Given the description of an element on the screen output the (x, y) to click on. 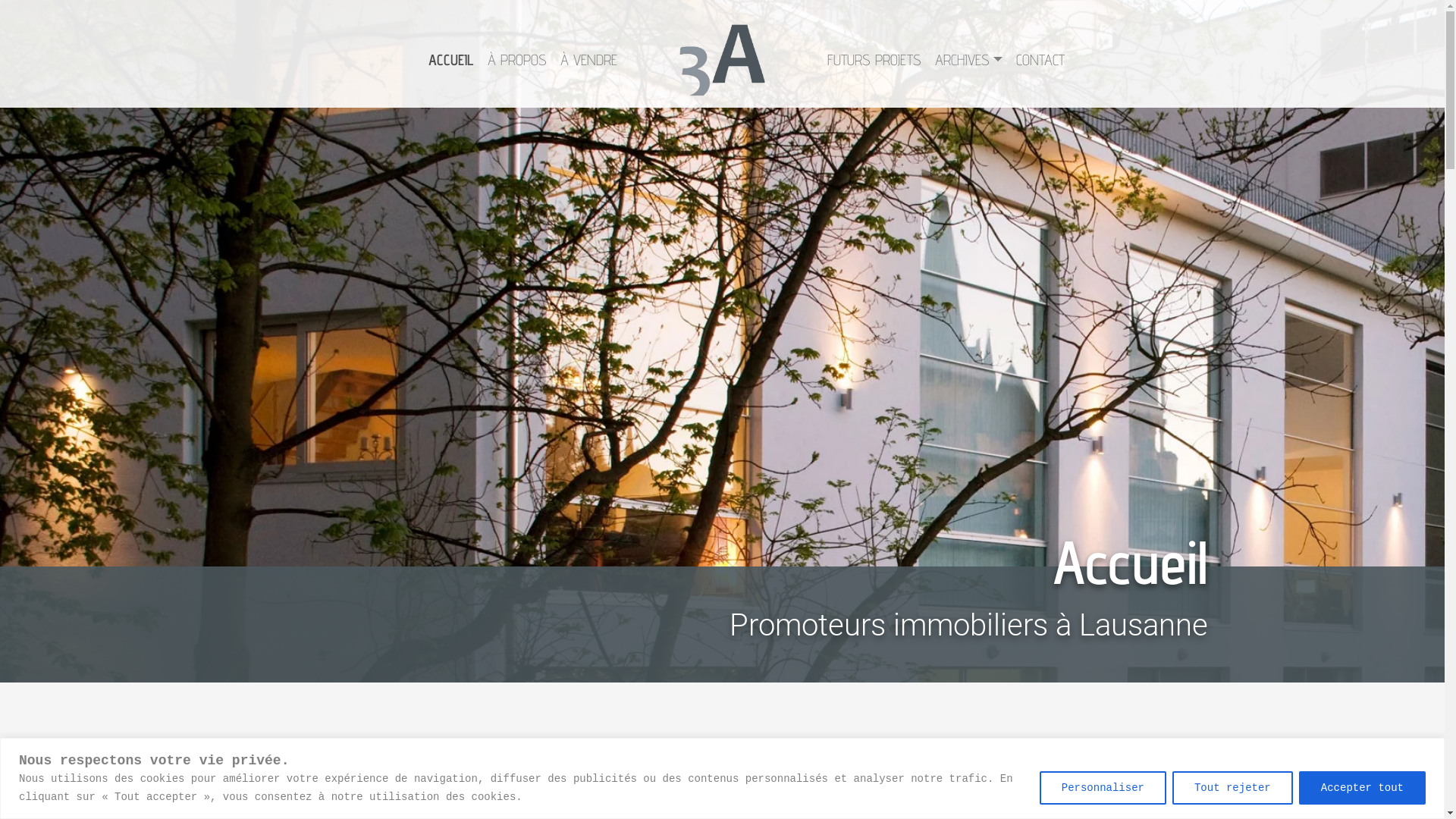
Personnaliser Element type: text (1102, 786)
Accepter tout Element type: text (1362, 786)
Tout rejeter Element type: text (1232, 786)
CONTACT Element type: text (1040, 59)
FUTURS PROJETS Element type: text (874, 59)
ACCUEIL Element type: text (451, 59)
ARCHIVES Element type: text (968, 59)
